Given the description of an element on the screen output the (x, y) to click on. 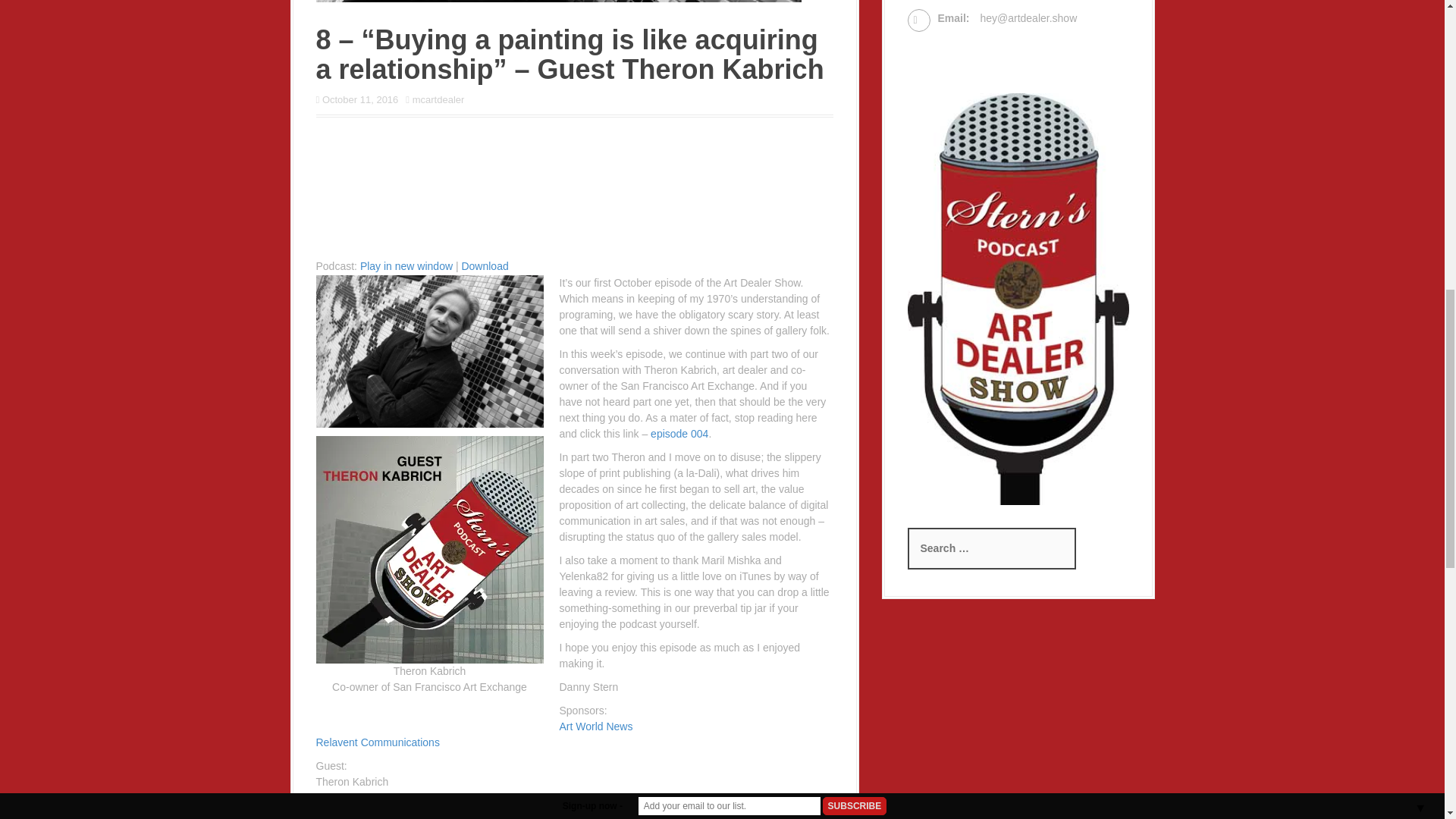
episode 004 (678, 433)
Relavent Communications  (378, 742)
Search for: (991, 548)
October 11, 2016 (359, 99)
mcartdealer (438, 99)
San Francisco Art Exchange (382, 797)
Download (484, 265)
Play in new window (405, 265)
Download (484, 265)
Art World News (596, 726)
Blubrry Podcast Player (573, 190)
Play in new window (405, 265)
